Given the description of an element on the screen output the (x, y) to click on. 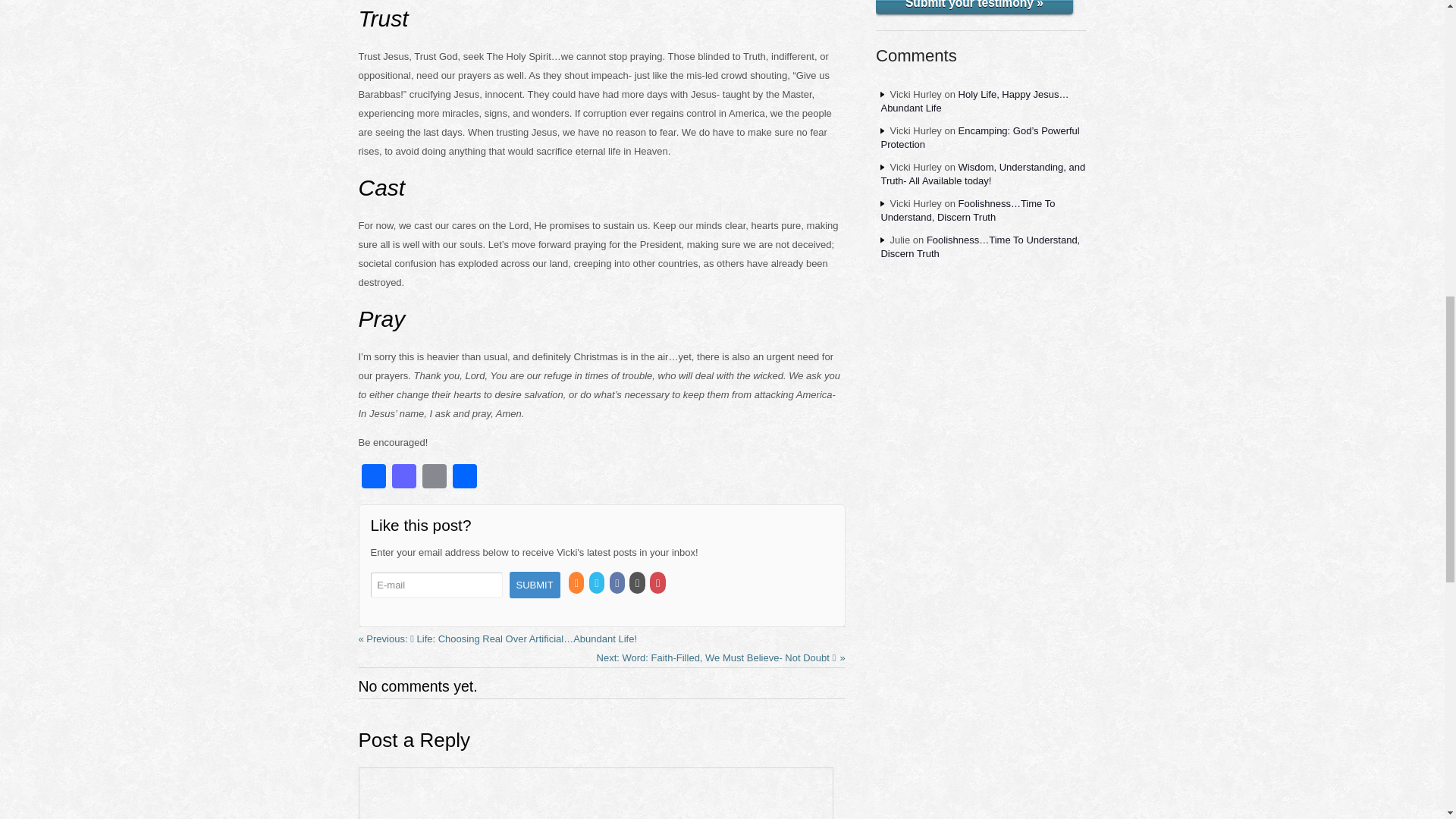
Facebook (373, 478)
RSS (577, 583)
Mastodon (403, 478)
Pinterest (657, 583)
E-mail (435, 584)
Email (433, 478)
Email (433, 478)
Submit (534, 584)
Share (463, 478)
Submit (534, 584)
Facebook (618, 583)
Mastodon (403, 478)
Word: Faith-Filled, We Must Believe- Not Doubt (720, 657)
Twitter (598, 583)
Facebook (373, 478)
